Given the description of an element on the screen output the (x, y) to click on. 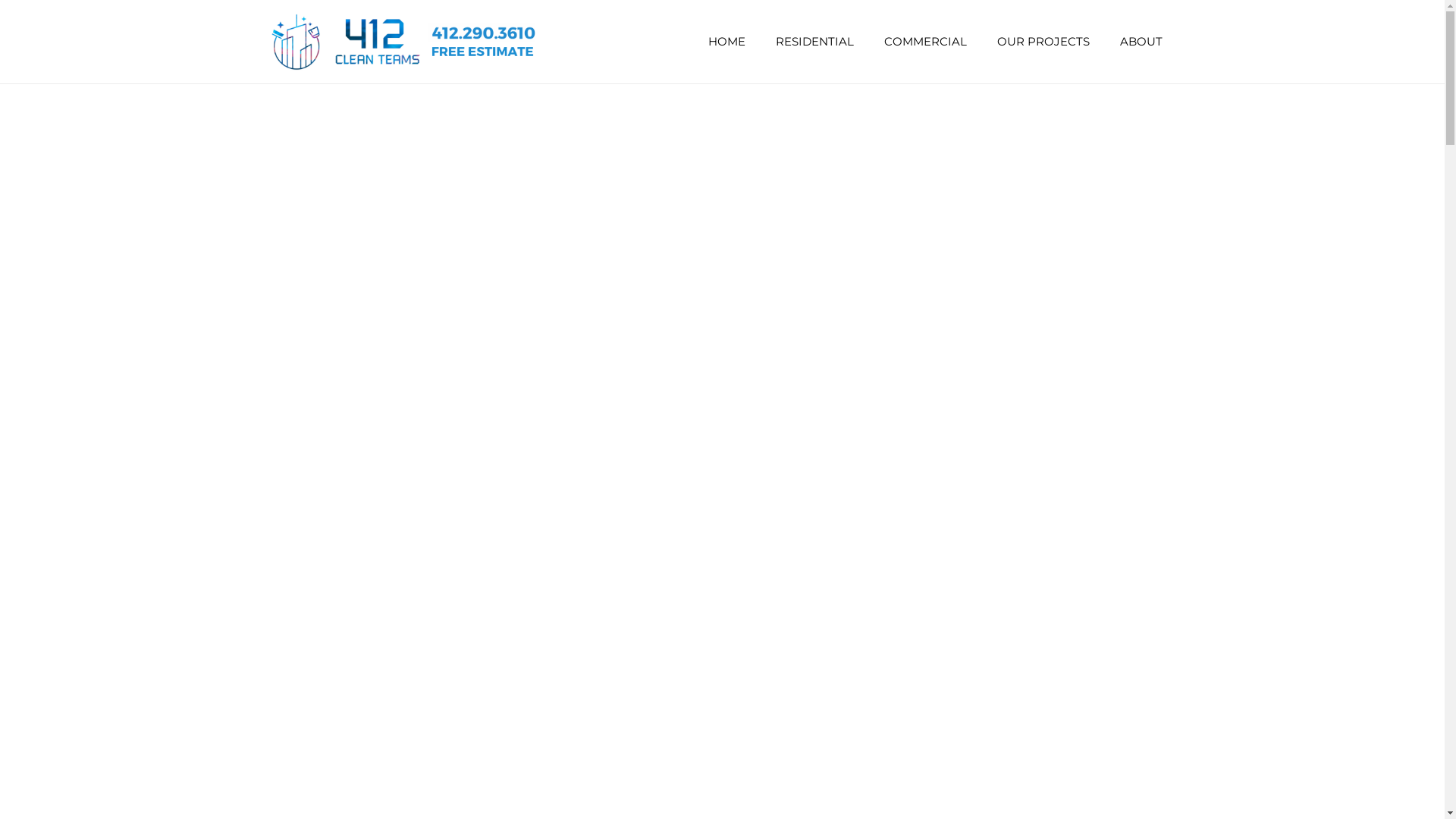
HOME Element type: text (726, 41)
ABOUT Element type: text (1140, 41)
COMMERCIAL Element type: text (925, 41)
OUR PROJECTS Element type: text (1043, 41)
RESIDENTIAL Element type: text (814, 41)
